Given the description of an element on the screen output the (x, y) to click on. 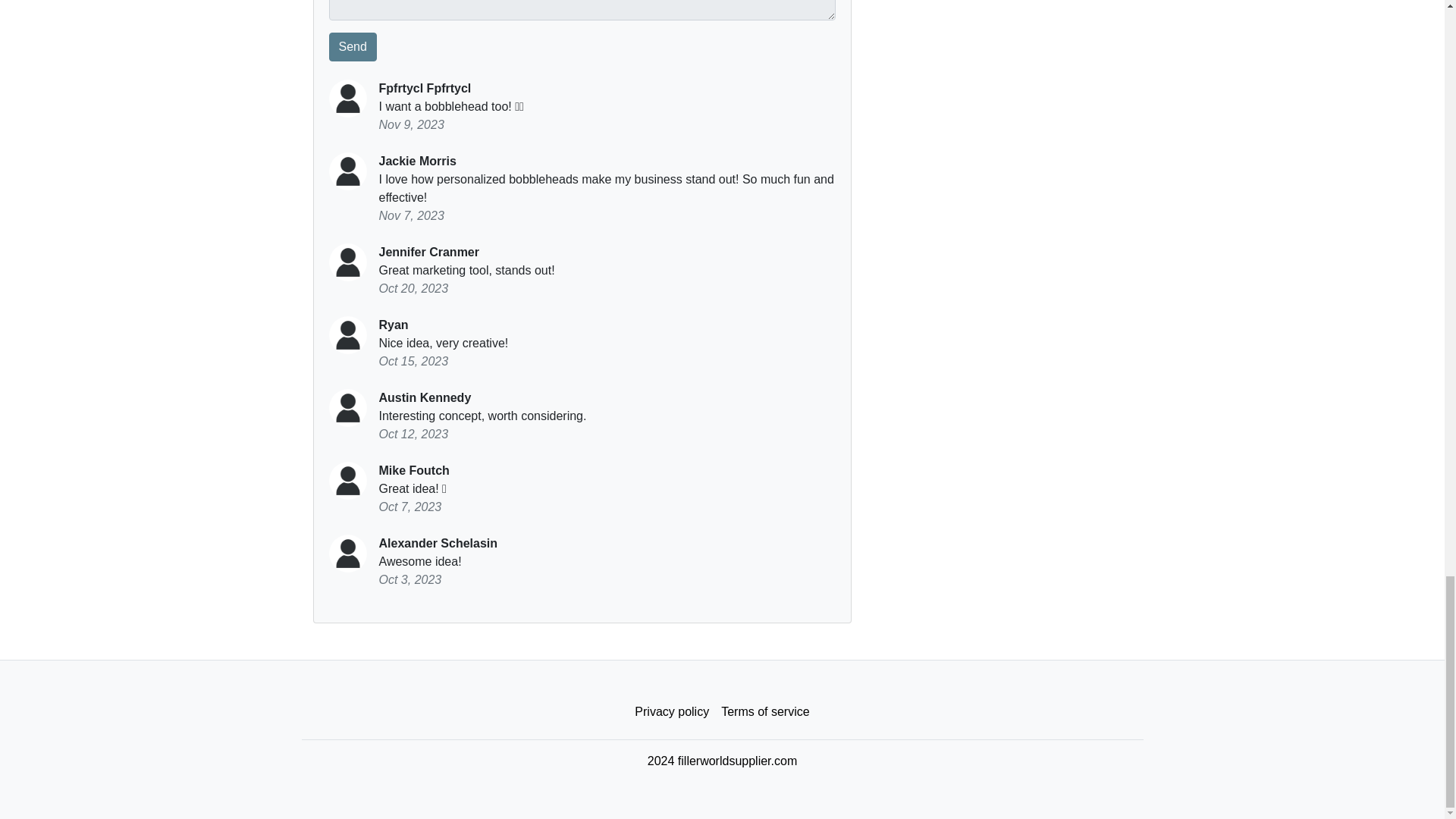
Send (353, 46)
Send (353, 46)
Privacy policy (671, 711)
Terms of service (764, 711)
